Given the description of an element on the screen output the (x, y) to click on. 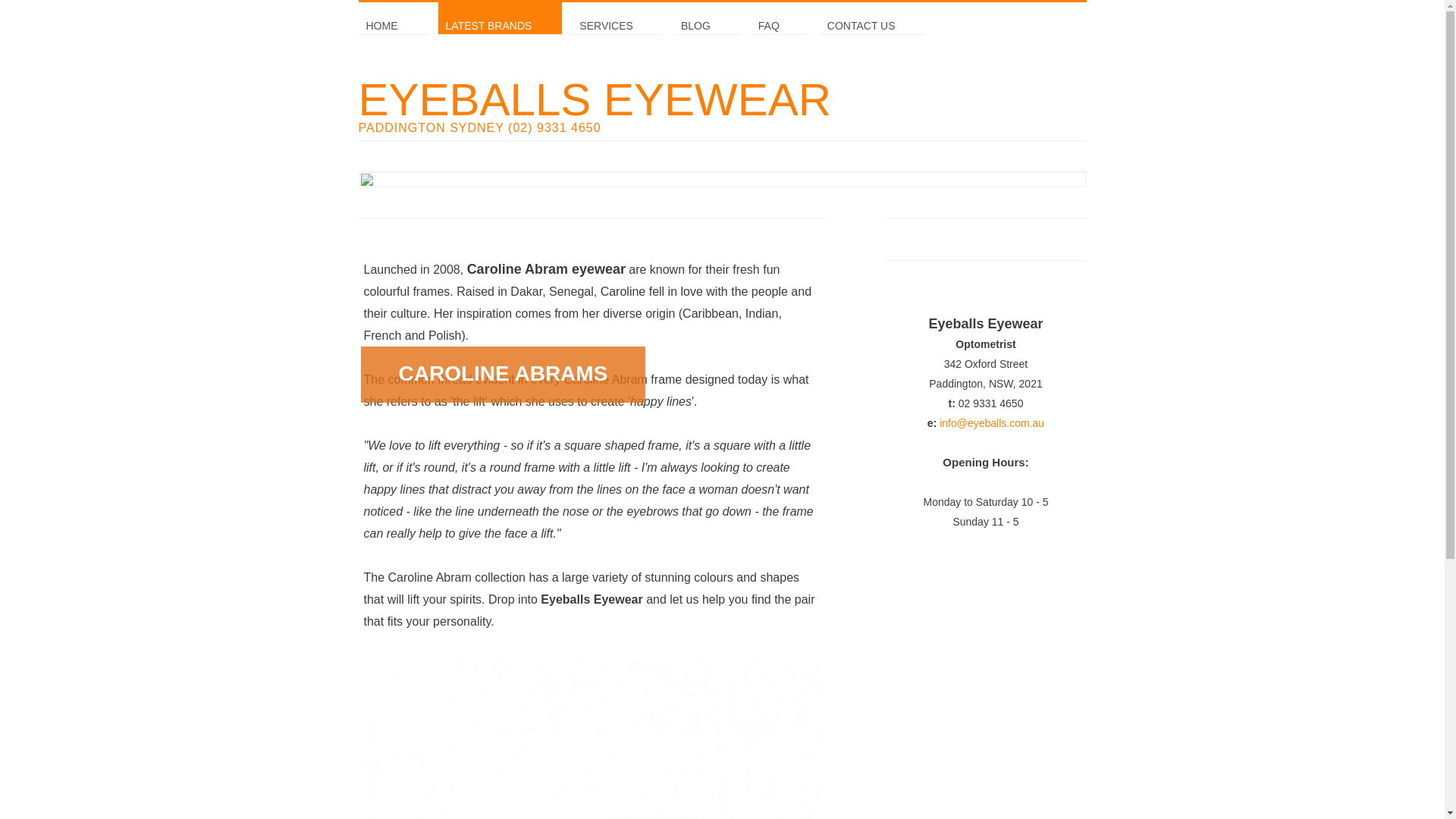
info@eyeballs.com.au Element type: text (991, 423)
EYEBALLS EYEWEAR Element type: text (721, 105)
